Given the description of an element on the screen output the (x, y) to click on. 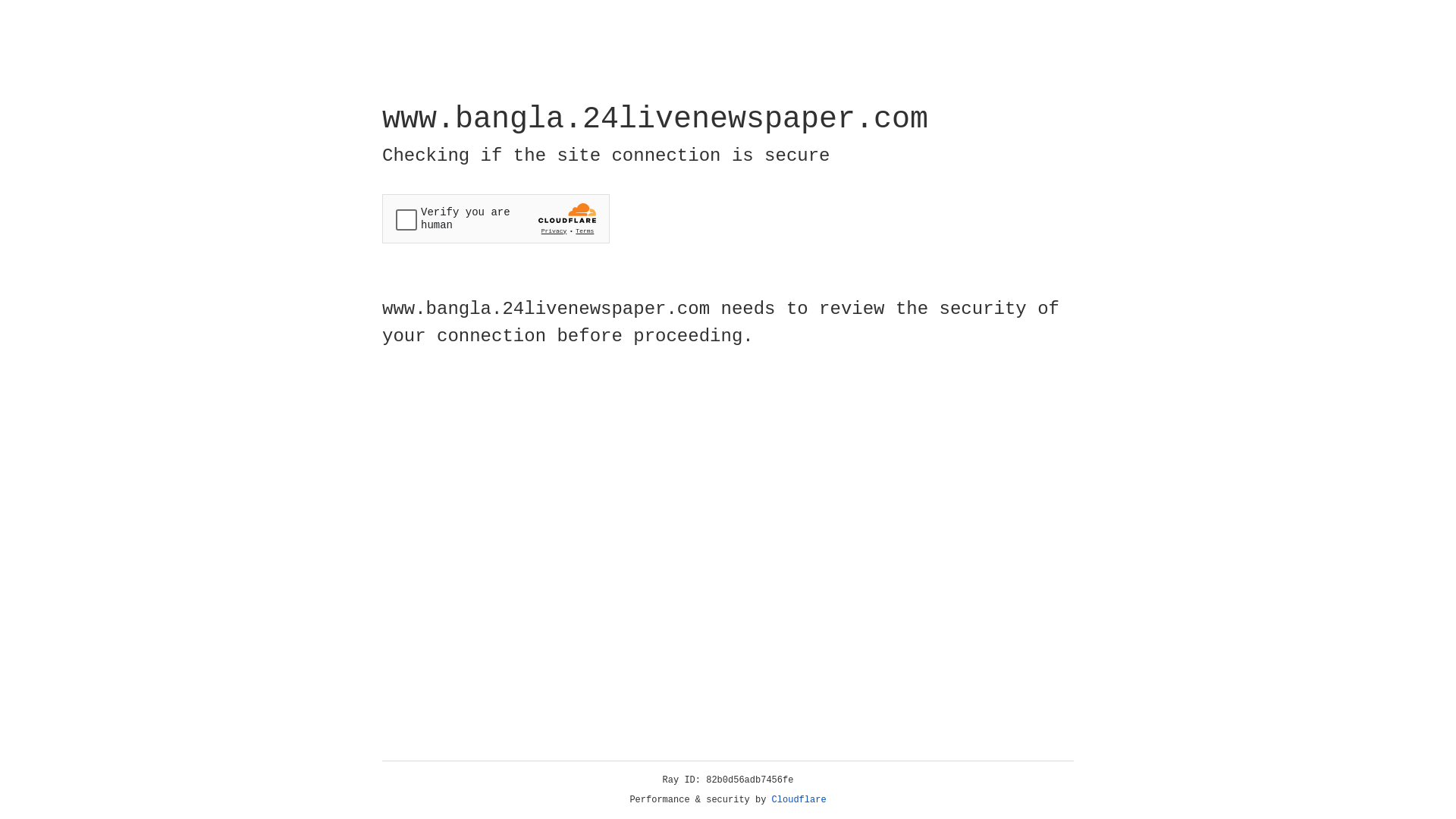
Cloudflare Element type: text (798, 799)
Widget containing a Cloudflare security challenge Element type: hover (495, 218)
